Given the description of an element on the screen output the (x, y) to click on. 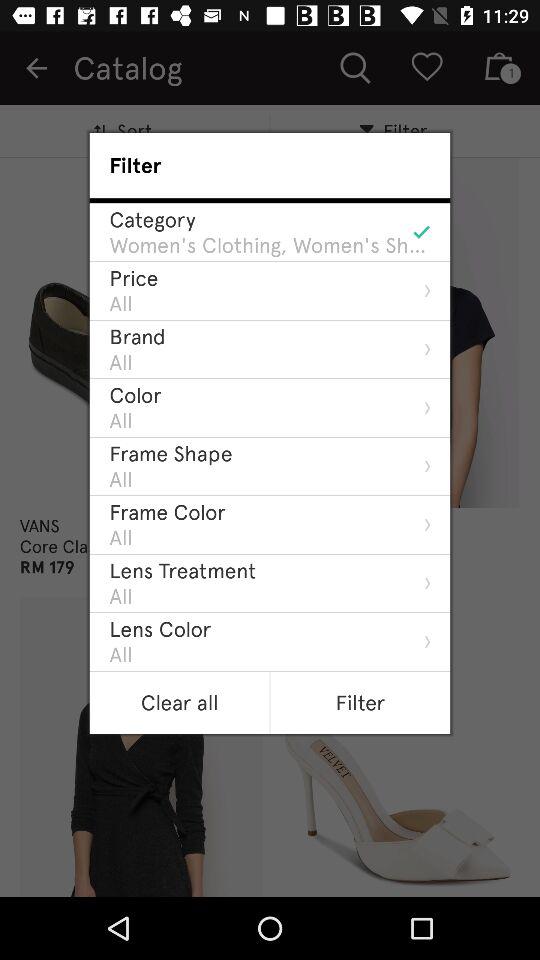
turn off the icon below all icon (160, 628)
